Given the description of an element on the screen output the (x, y) to click on. 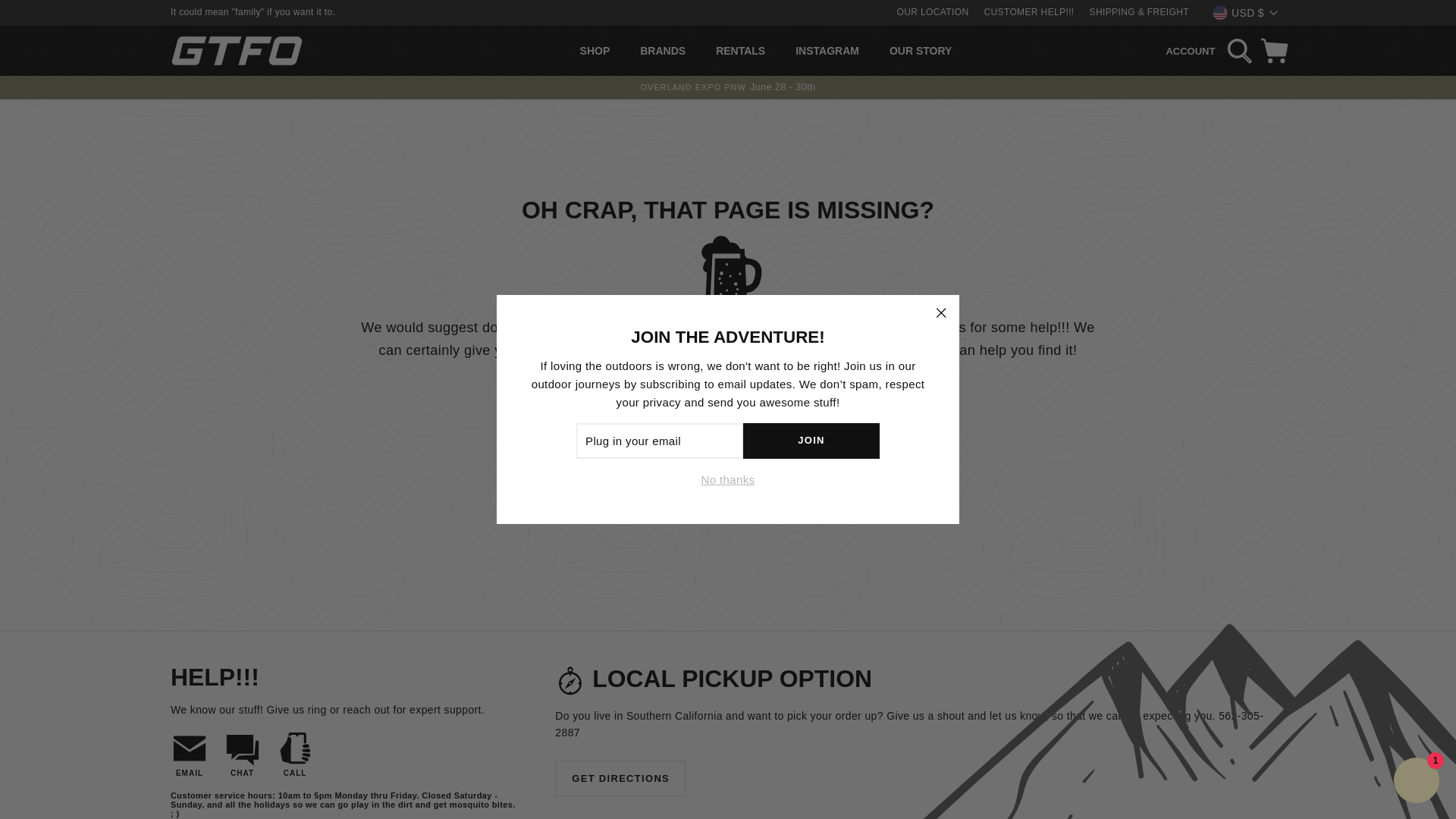
Shopify online store chat (1416, 781)
Chat with GTFOverland (243, 754)
Email GTFOverland (189, 754)
Call GTFOverland (295, 754)
